Given the description of an element on the screen output the (x, y) to click on. 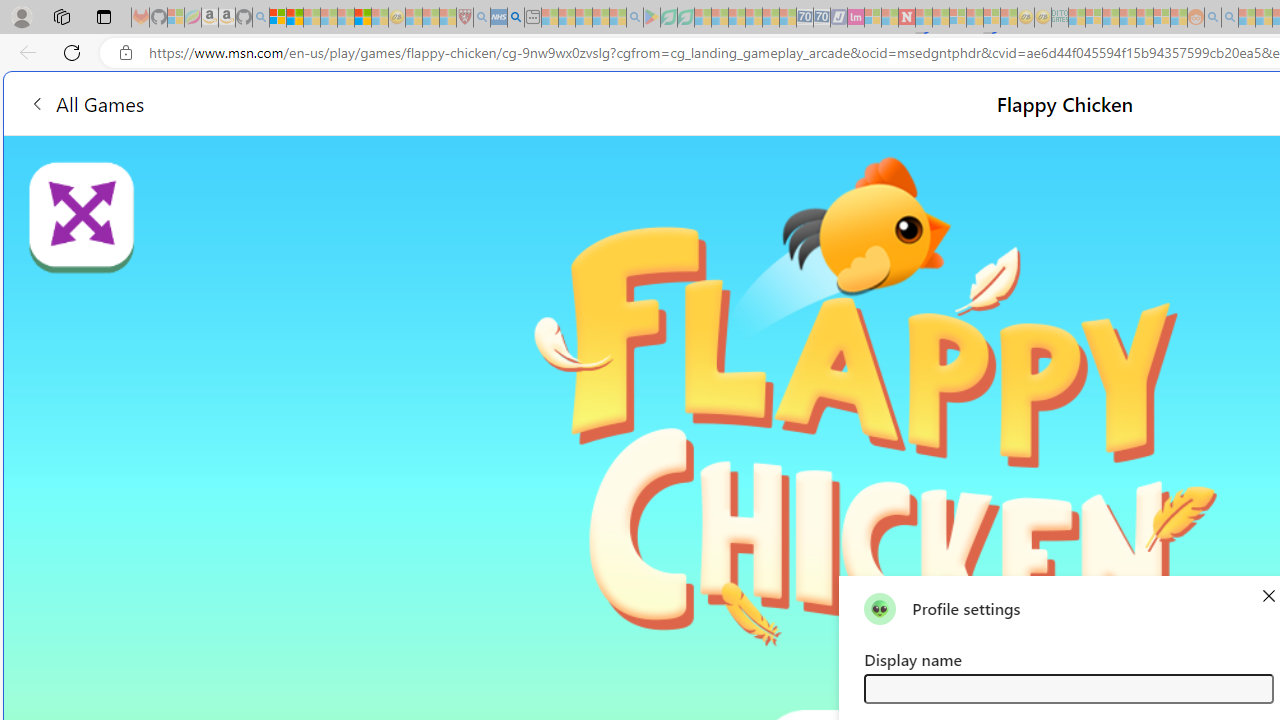
All Games (86, 102)
Microsoft account | Privacy - Sleeping (1093, 17)
